Given the description of an element on the screen output the (x, y) to click on. 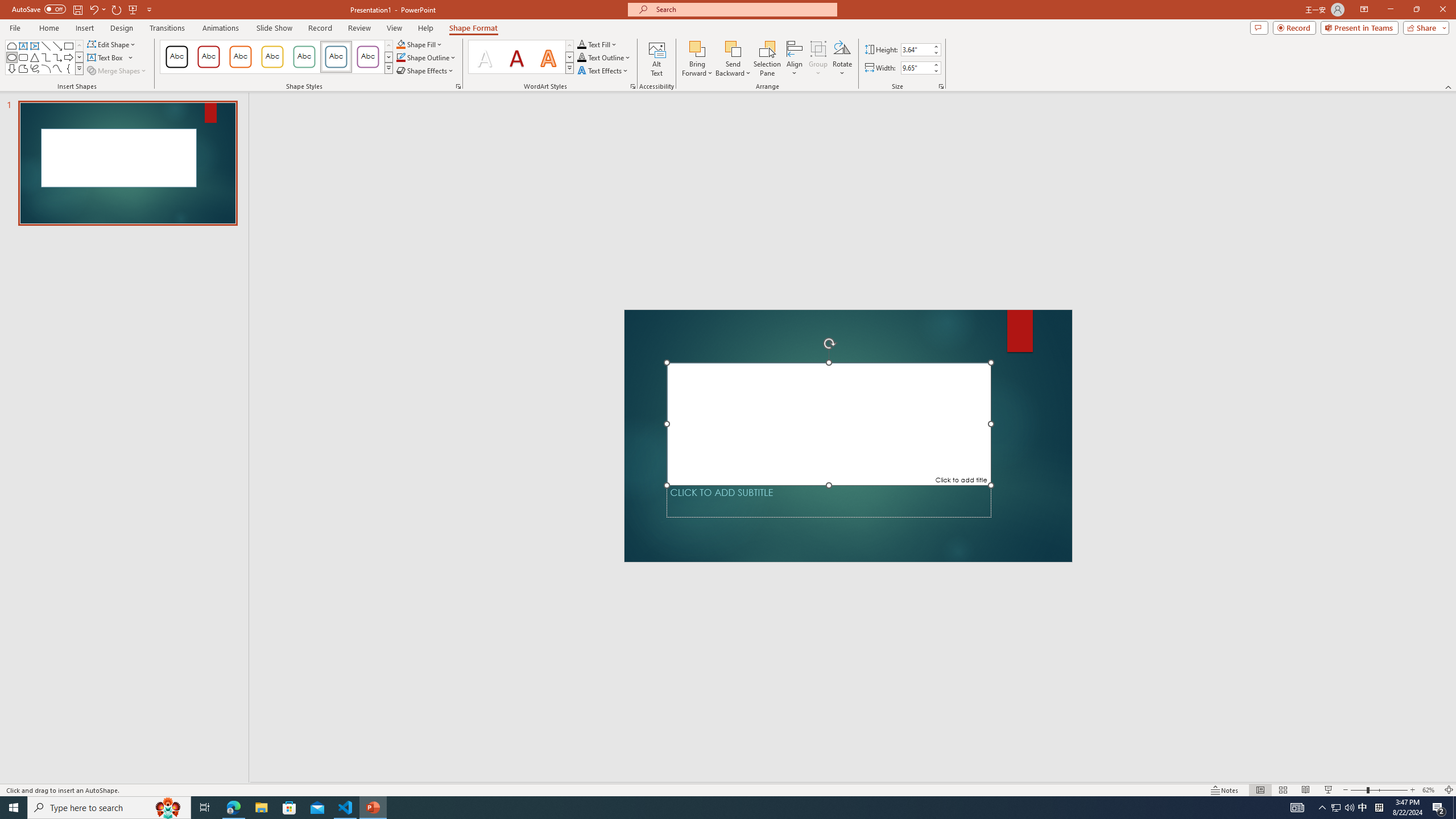
Edit Shape (112, 44)
Text Fill RGB(0, 0, 0) (581, 44)
Shape Effects (425, 69)
More (935, 64)
Shape Width (915, 67)
Draw Horizontal Text Box (105, 56)
Bring Forward (697, 48)
